Given the description of an element on the screen output the (x, y) to click on. 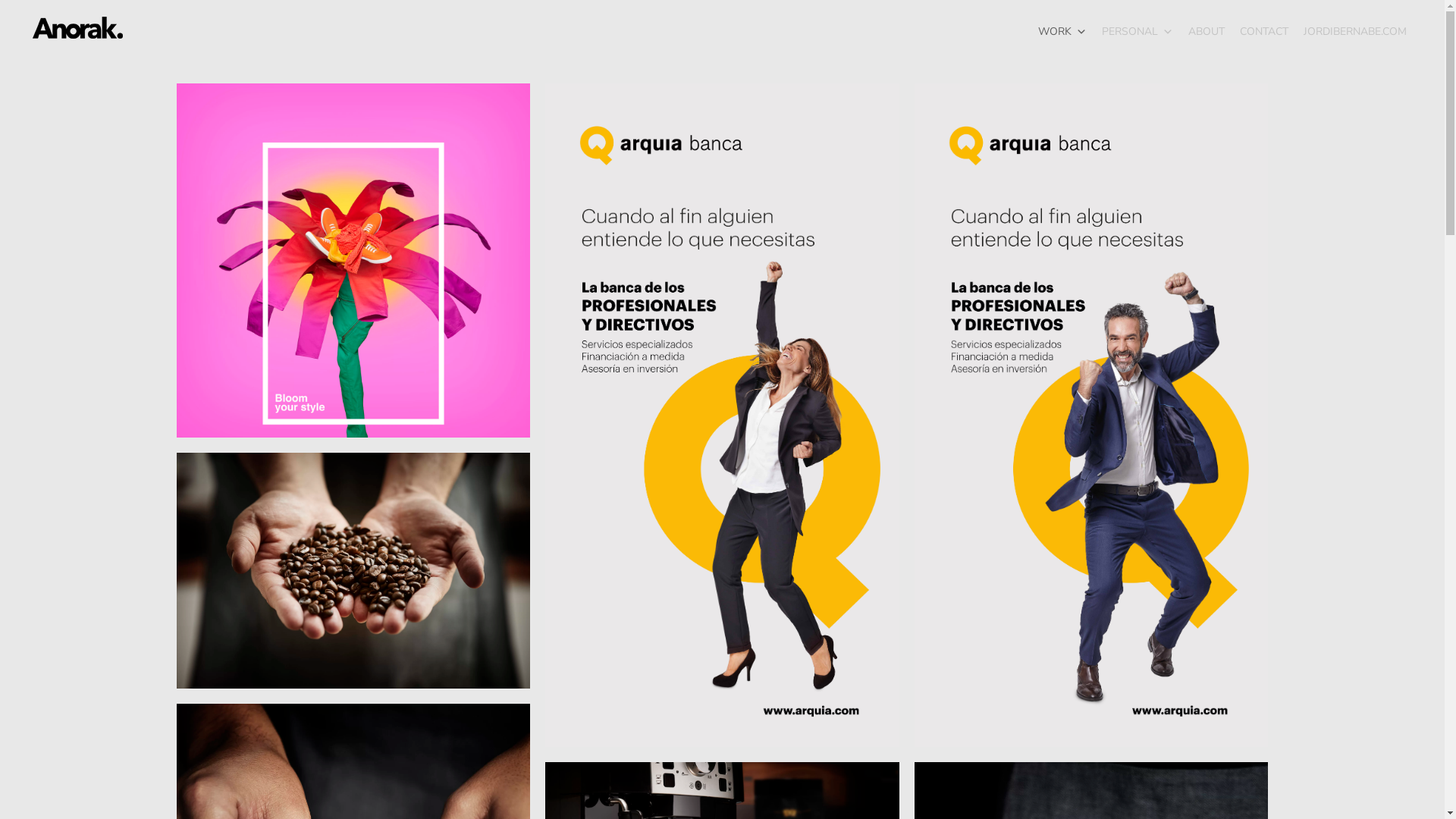
CONTACT Element type: text (1263, 31)
WORK Element type: text (1062, 31)
Anorak Element type: hover (77, 26)
PERSONAL Element type: text (1137, 31)
JORDIBERNABE.COM Element type: text (1354, 31)
ABOUT Element type: text (1206, 31)
